Given the description of an element on the screen output the (x, y) to click on. 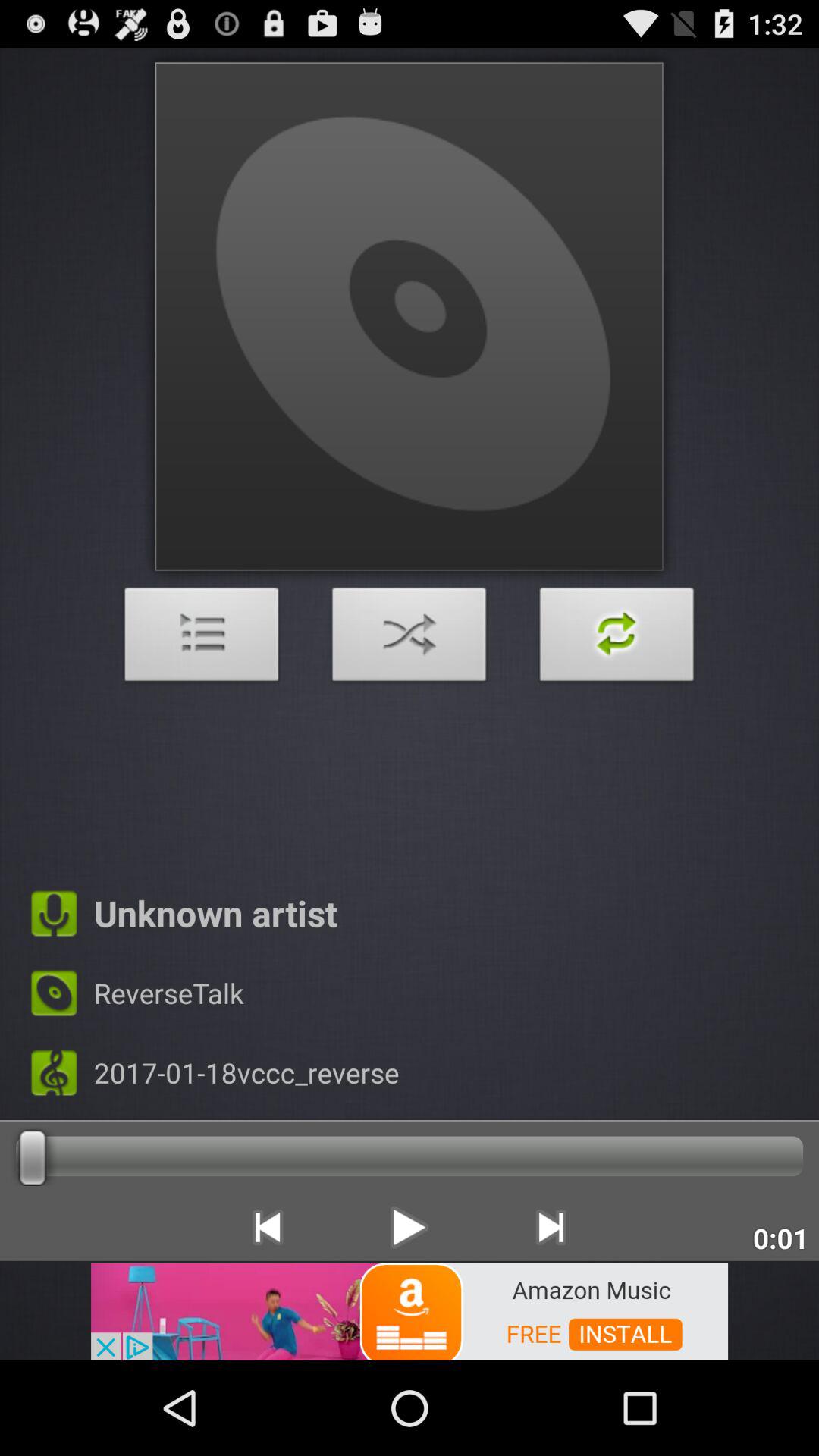
refresh (616, 638)
